Given the description of an element on the screen output the (x, y) to click on. 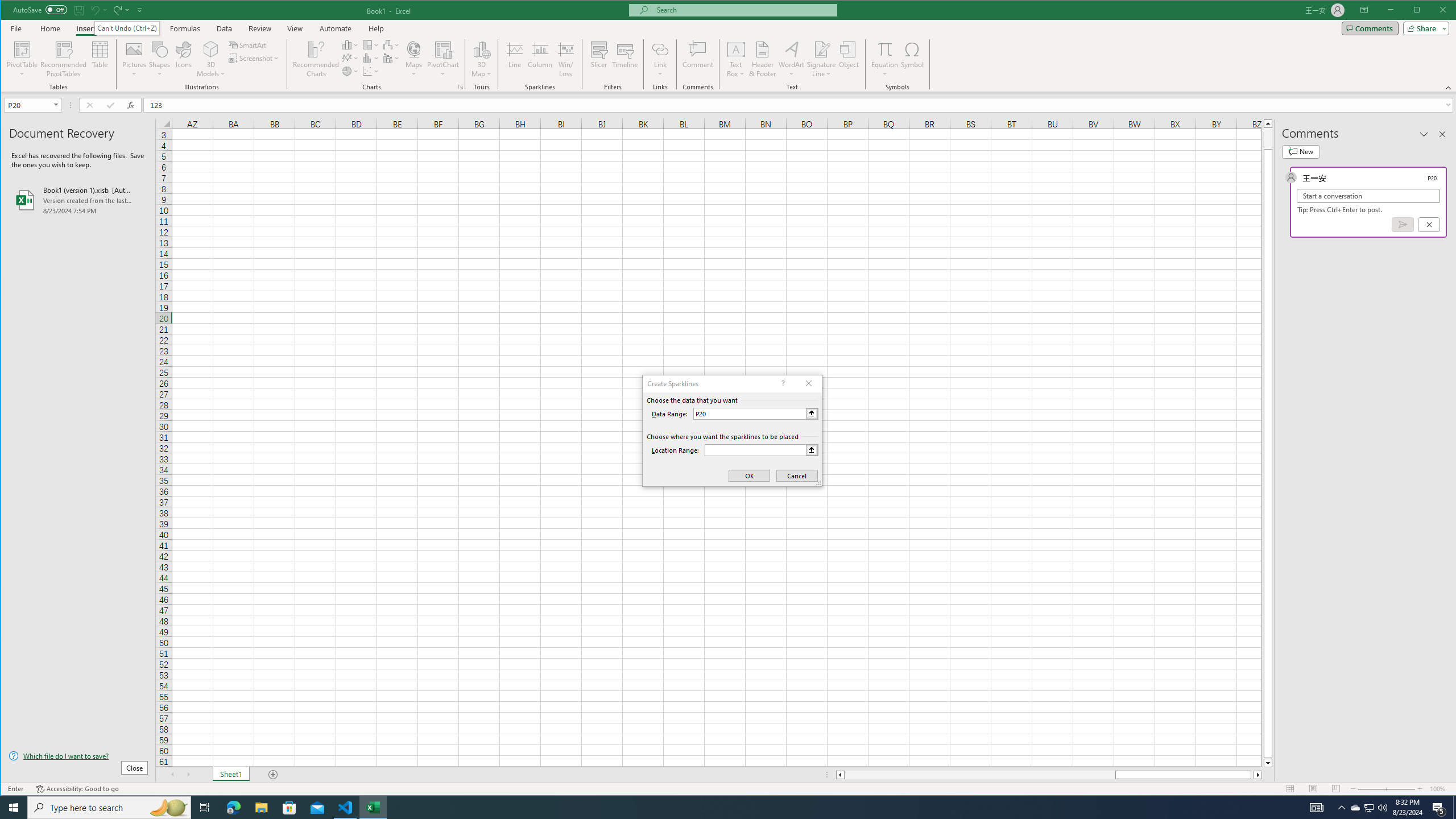
Comment (697, 59)
Insert Waterfall, Funnel, Stock, Surface, or Radar Chart (391, 44)
Maximize (1432, 11)
Signature Line (821, 59)
3D Models (211, 59)
